Given the description of an element on the screen output the (x, y) to click on. 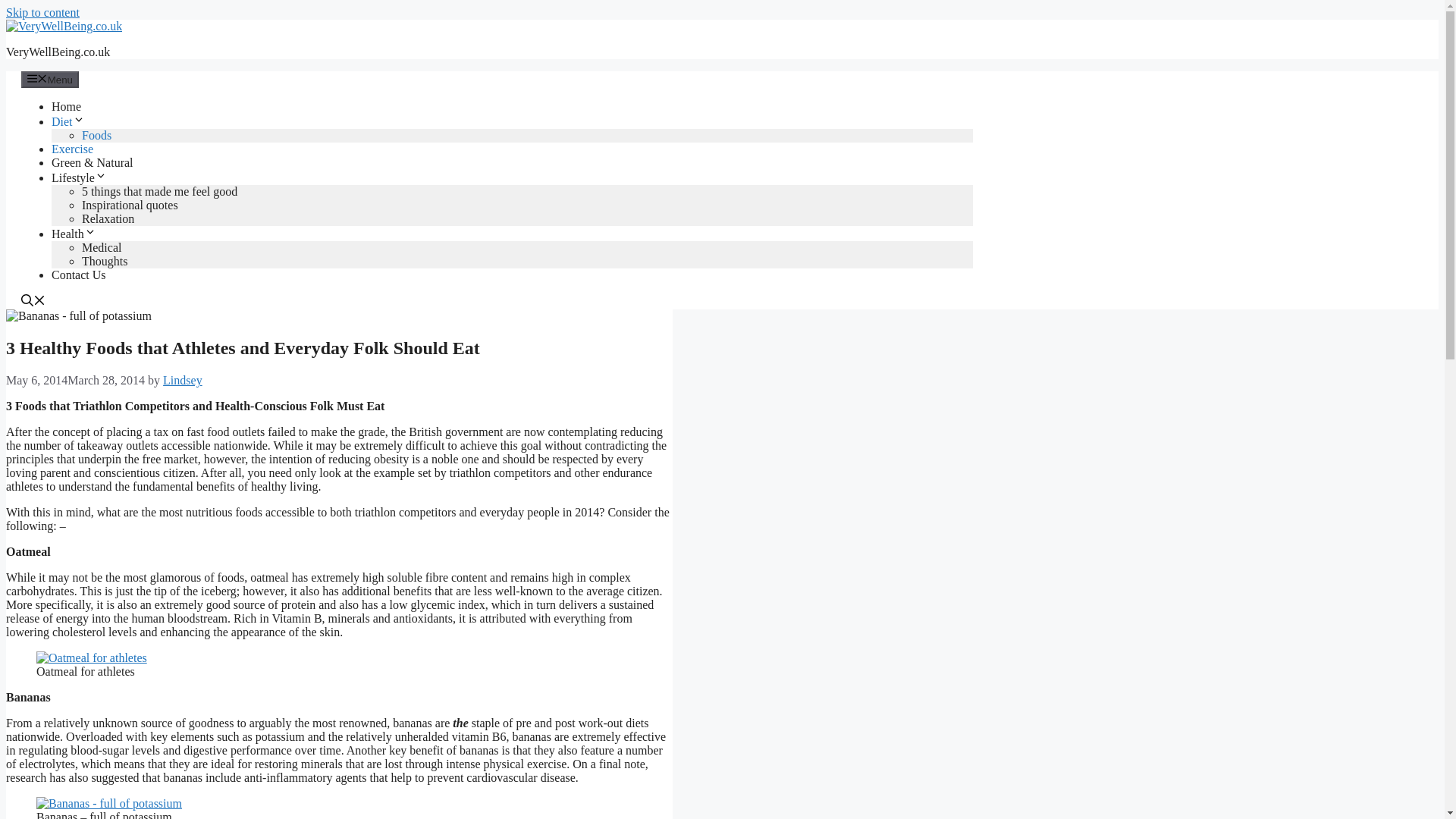
Relaxation (107, 218)
Foods (96, 134)
Contact Us (78, 274)
Exercise (71, 148)
Health (73, 233)
VeryWellBeing.co.uk (57, 51)
Thoughts (104, 260)
Menu (49, 79)
Medical (100, 246)
Skip to content (42, 11)
